Given the description of an element on the screen output the (x, y) to click on. 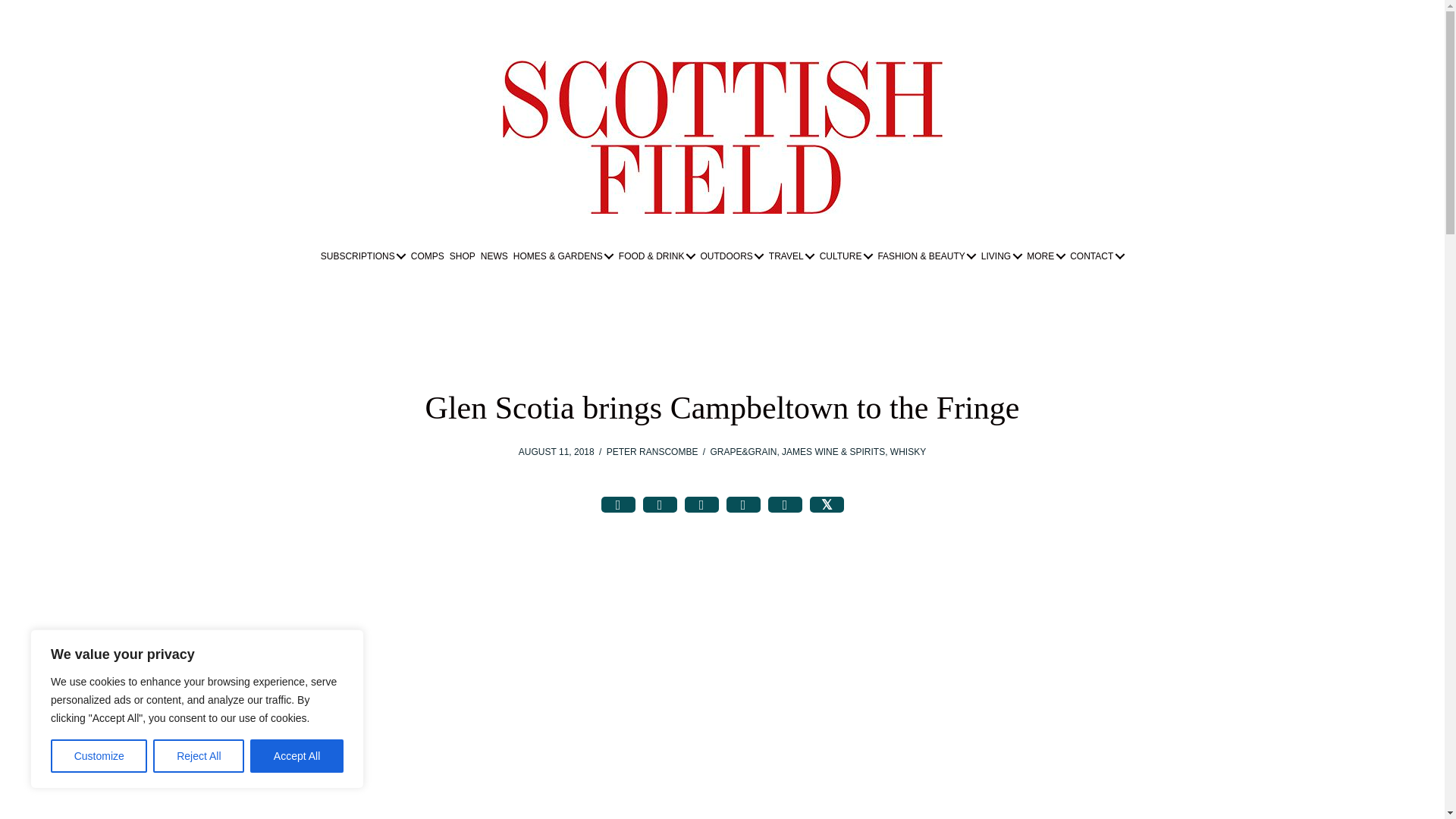
OUTDOORS (731, 255)
COMPS (427, 255)
Accept All (296, 756)
NEWS (495, 255)
Scottish Field Lifestyle Magazine (722, 136)
SHOP (461, 255)
SUBSCRIPTIONS (362, 255)
Reject All (198, 756)
Customize (98, 756)
